Given the description of an element on the screen output the (x, y) to click on. 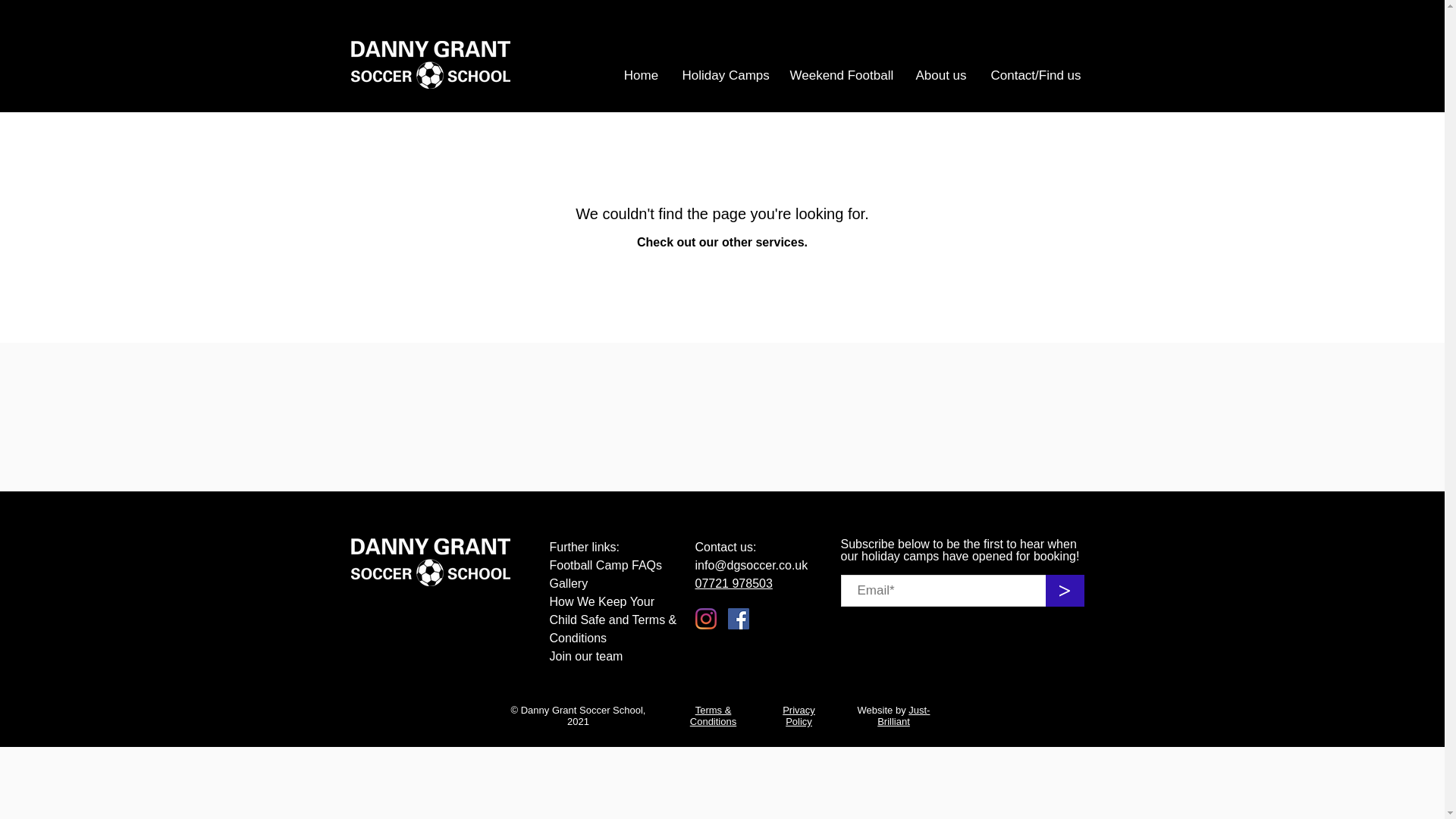
07721 978503 (732, 583)
Football Camp FAQs (605, 564)
Just-Brilliant (903, 715)
Holiday Camps (723, 75)
Home (640, 75)
About us (941, 75)
Gallery (568, 583)
Join our team (585, 656)
Privacy Policy (799, 715)
